Given the description of an element on the screen output the (x, y) to click on. 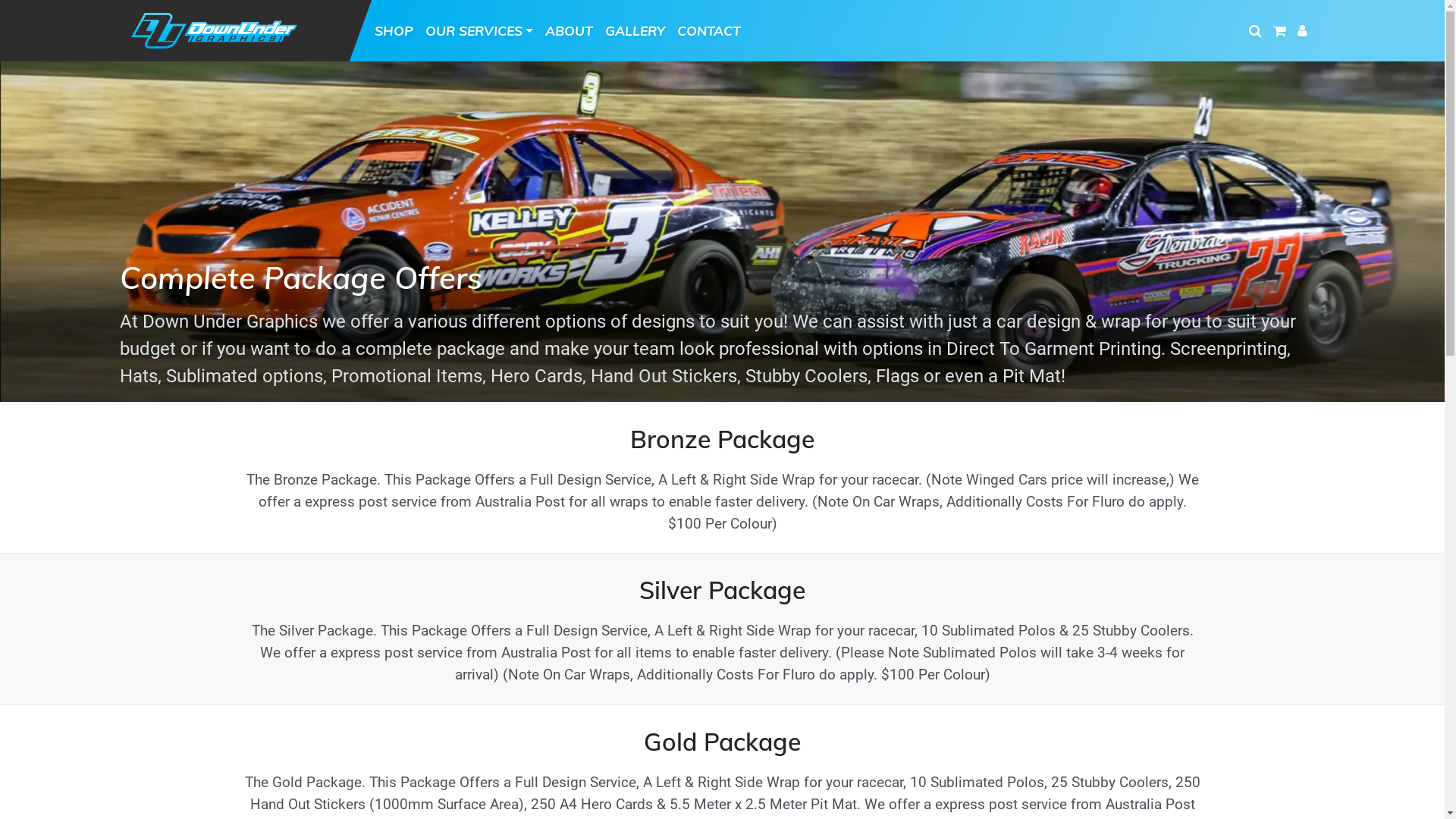
SHOP Element type: text (393, 30)
Skip to content Element type: text (1443, 0)
OUR SERVICES Element type: text (478, 30)
GALLERY Element type: text (635, 30)
ABOUT Element type: text (569, 30)
CONTACT Element type: text (708, 30)
